Given the description of an element on the screen output the (x, y) to click on. 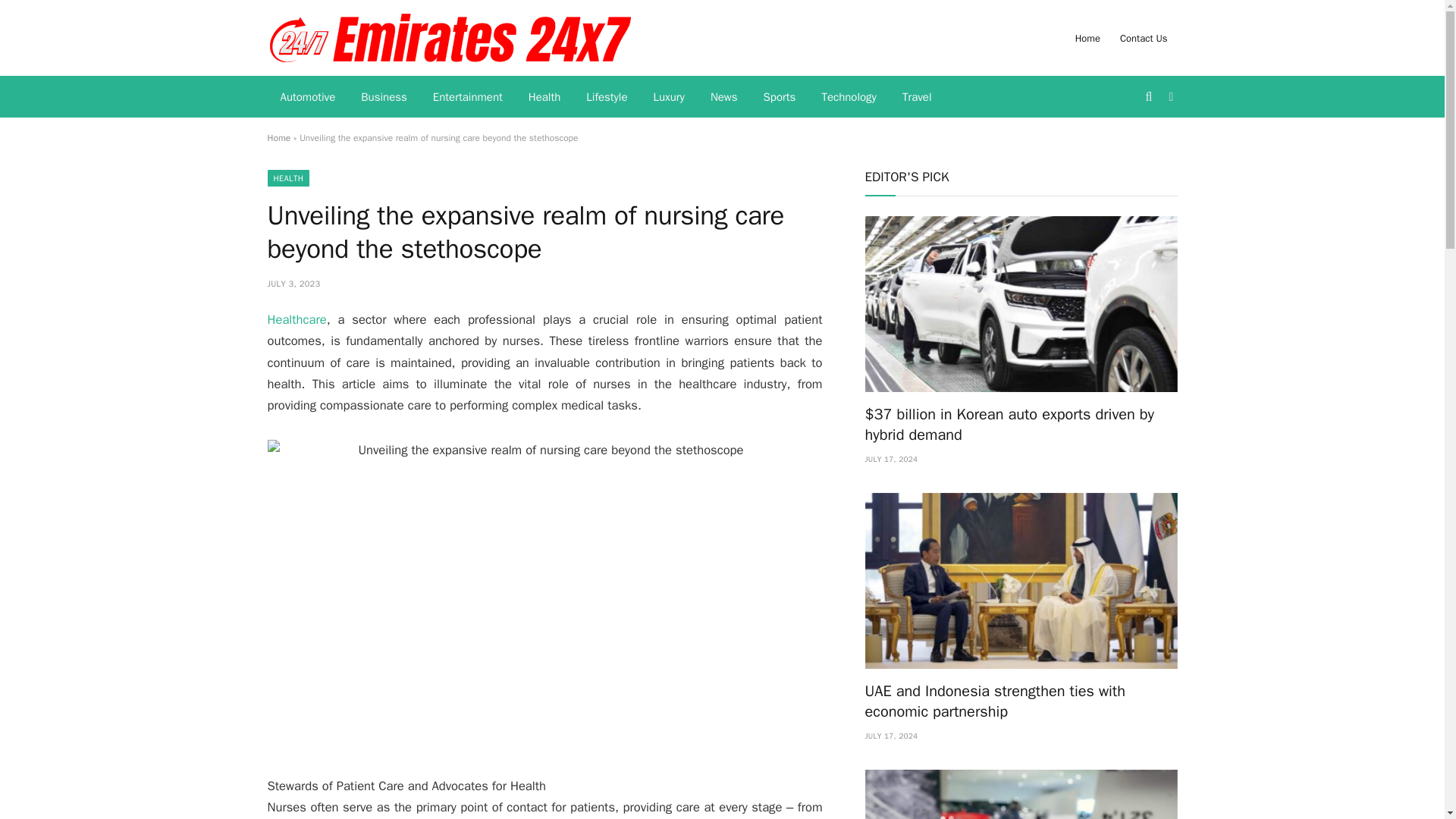
Home (277, 137)
HEALTH (287, 177)
Health (544, 96)
Technology (848, 96)
Travel (916, 96)
News (724, 96)
Search (1149, 96)
Business (383, 96)
Home (1087, 38)
Lifestyle (606, 96)
Switch to Dark Design - easier on eyes. (1169, 96)
Contact Us (1143, 38)
Luxury (668, 96)
Automotive (306, 96)
